Given the description of an element on the screen output the (x, y) to click on. 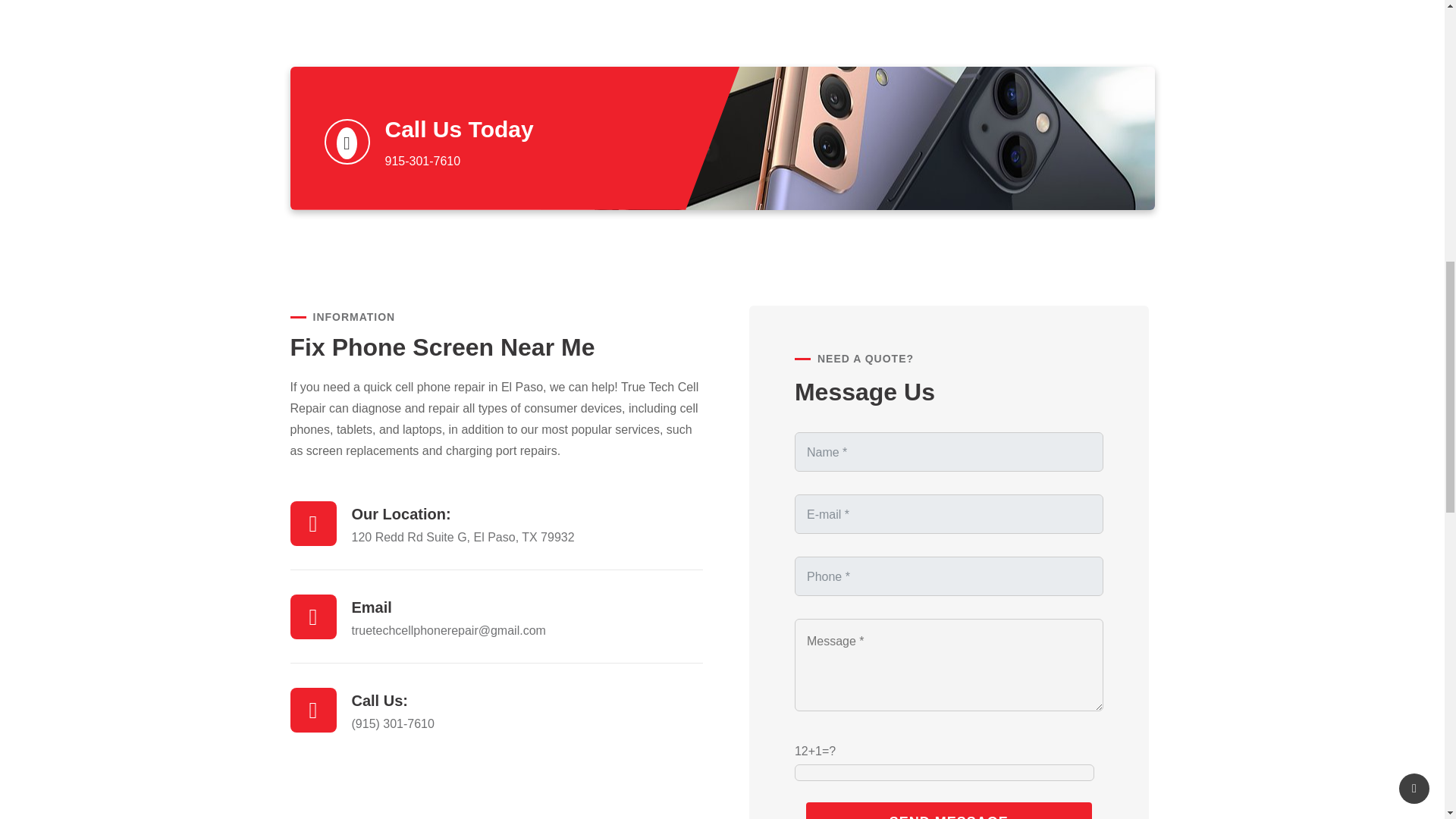
SEND MESSAGE (949, 810)
SEND MESSAGE (949, 810)
Call Us Today (459, 129)
915-301-7610 (423, 160)
